Given the description of an element on the screen output the (x, y) to click on. 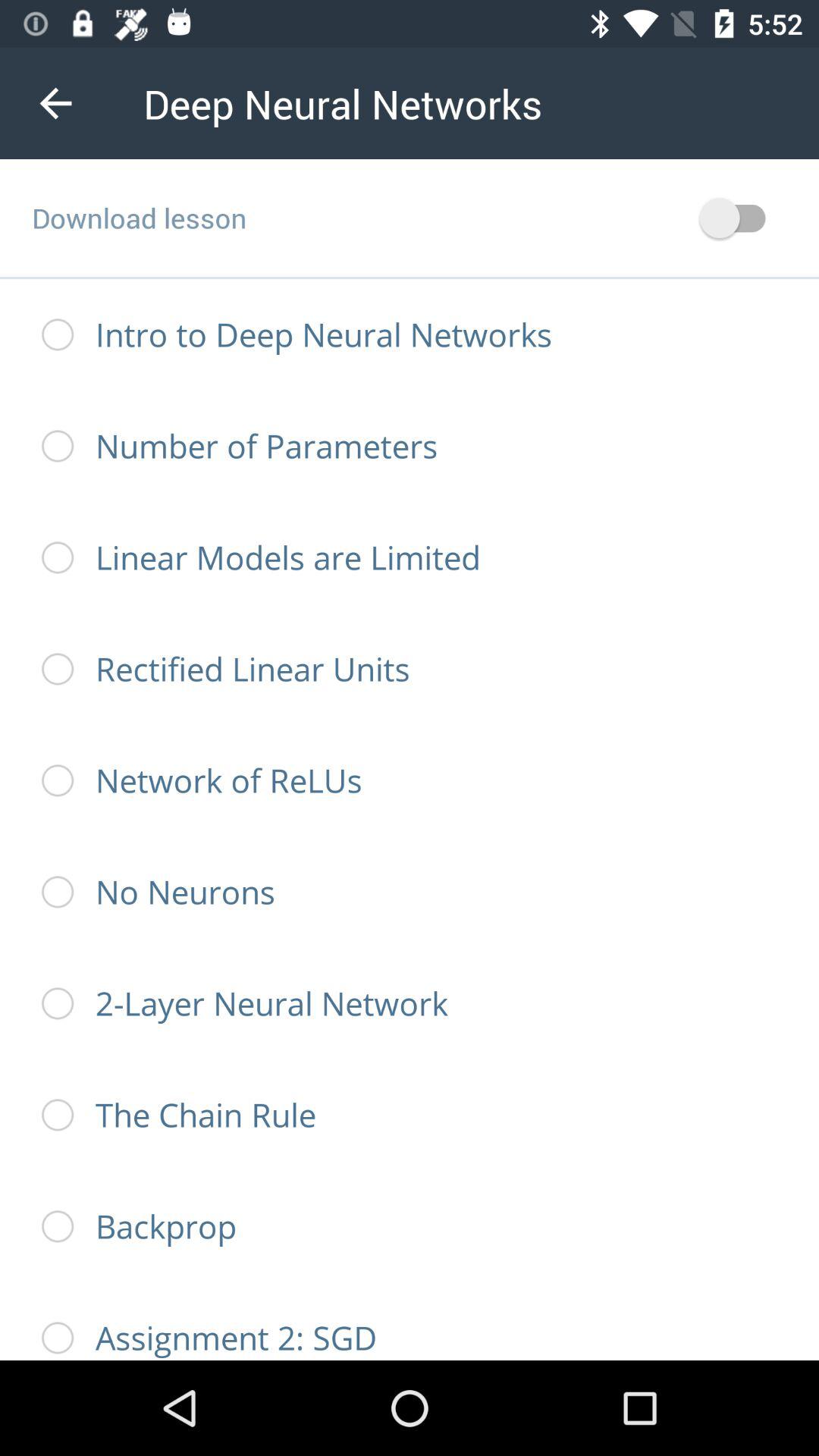
turn off the item above the download lesson item (55, 103)
